Given the description of an element on the screen output the (x, y) to click on. 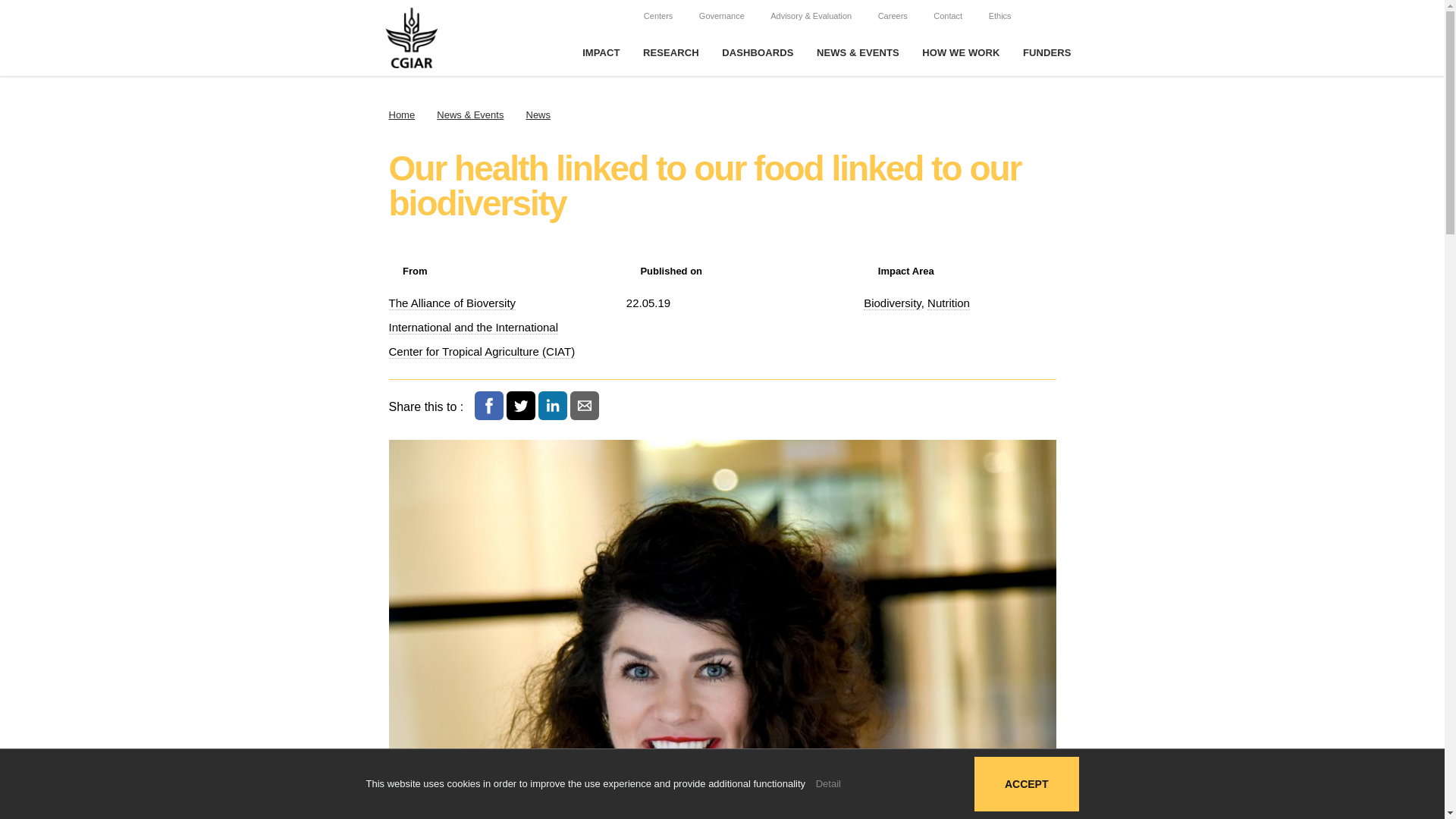
RESEARCH (670, 53)
